Given the description of an element on the screen output the (x, y) to click on. 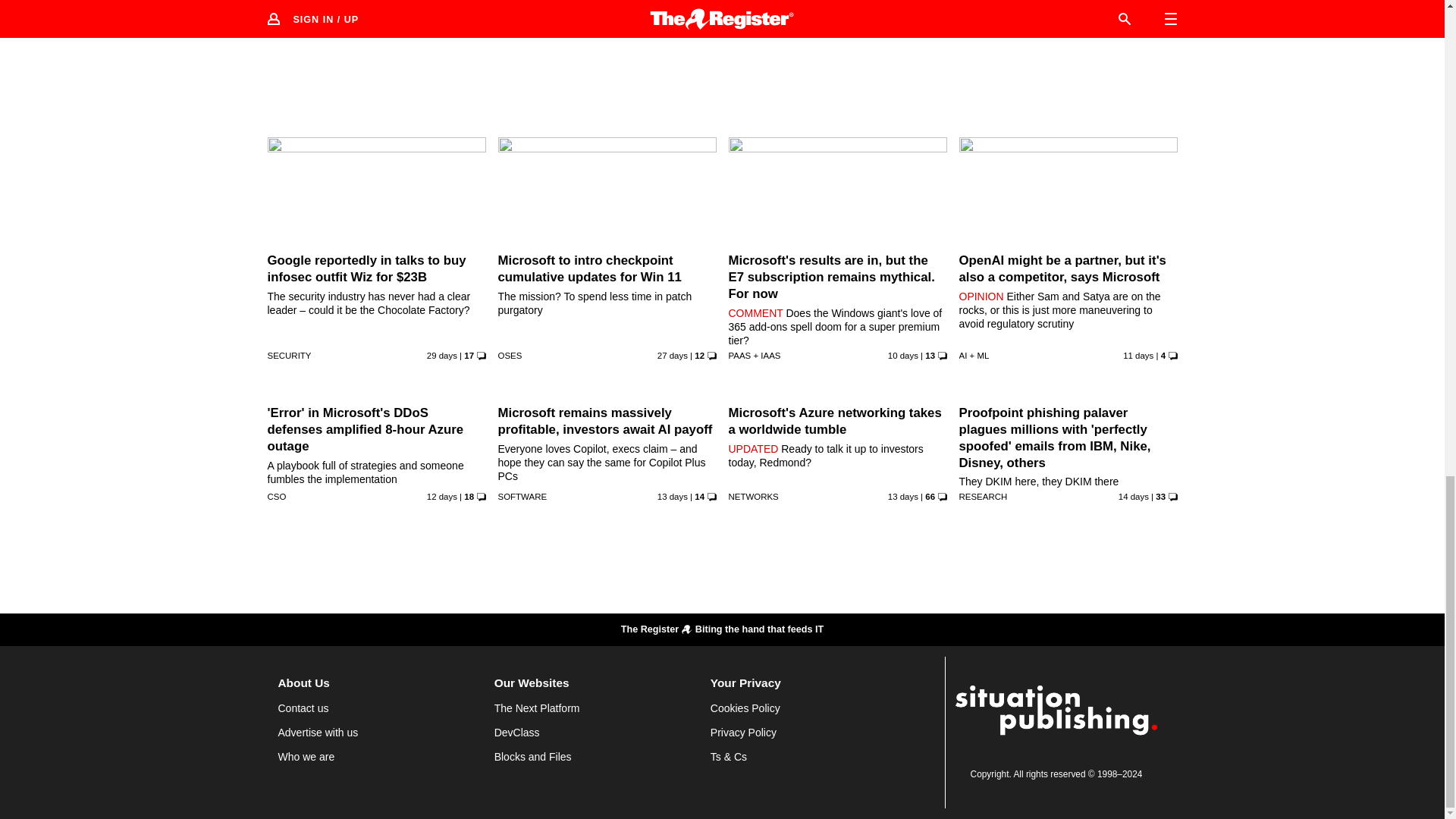
24 Jul 2024 11:34 (903, 4)
15 Jul 2024 15:0 (672, 4)
16 Jul 2024 14:14 (672, 355)
31 Jul 2024 12:58 (441, 496)
1 Aug 2024 16:1 (1137, 355)
31 Jul 2024 5:38 (672, 496)
29 Jul 2024 6:30 (441, 4)
15 Jul 2024 4:39 (441, 355)
2 Aug 2024 18:11 (903, 355)
